Given the description of an element on the screen output the (x, y) to click on. 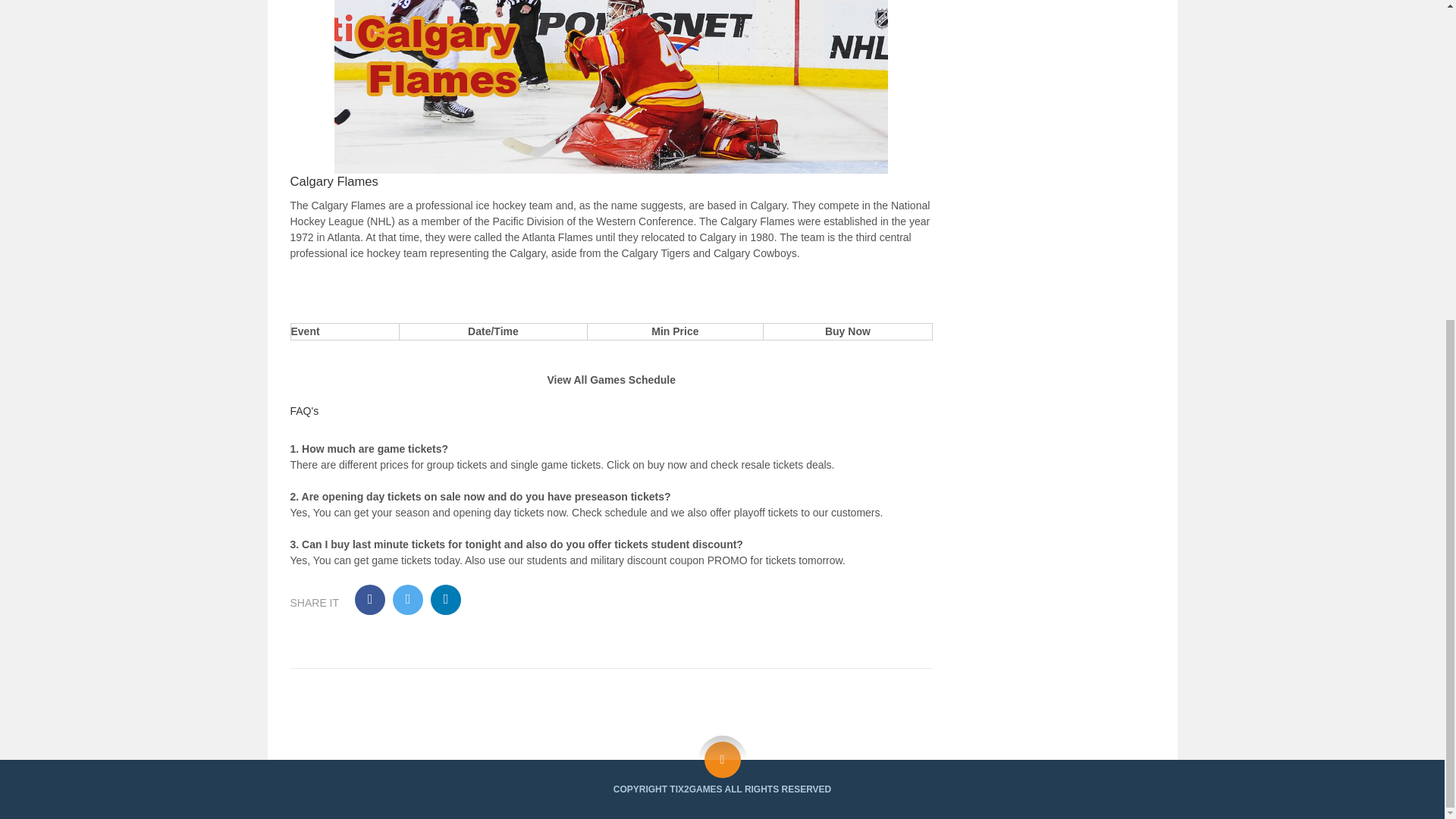
View All Games Schedule (611, 379)
Share on LinkedIn (445, 599)
Share on Twitter (408, 599)
Share on Facebook (370, 599)
